Given the description of an element on the screen output the (x, y) to click on. 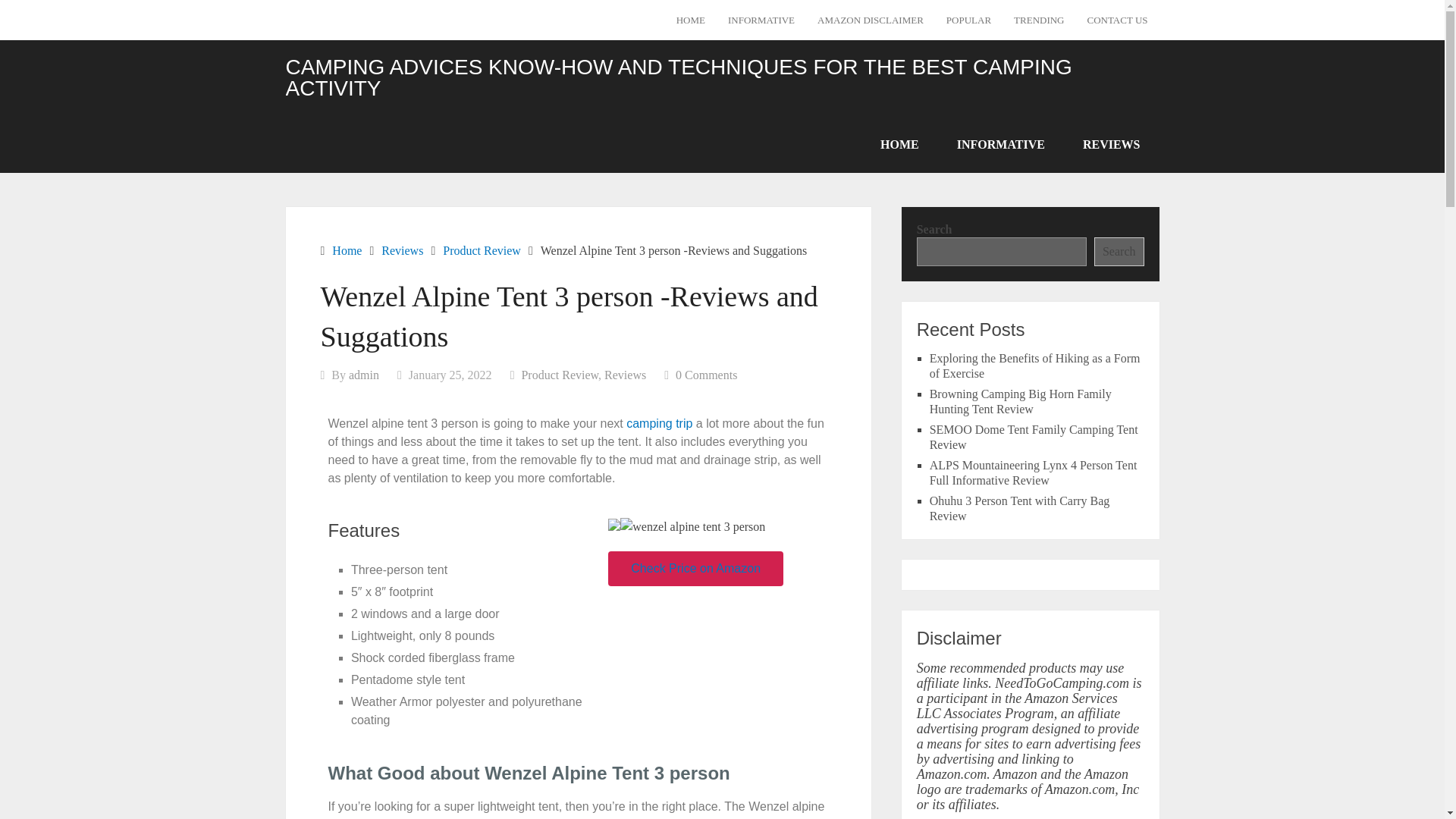
REVIEWS (1111, 144)
SEMOO Dome Tent Family Camping Tent Review (1034, 437)
Product Review (481, 250)
TRENDING (1039, 20)
Search (1119, 250)
Browning Camping Big Horn Family Hunting Tent Review (1021, 401)
Ohuhu 3 Person Tent with Carry Bag Review (1019, 508)
HOME (899, 144)
Home (346, 250)
INFORMATIVE (761, 20)
